Given the description of an element on the screen output the (x, y) to click on. 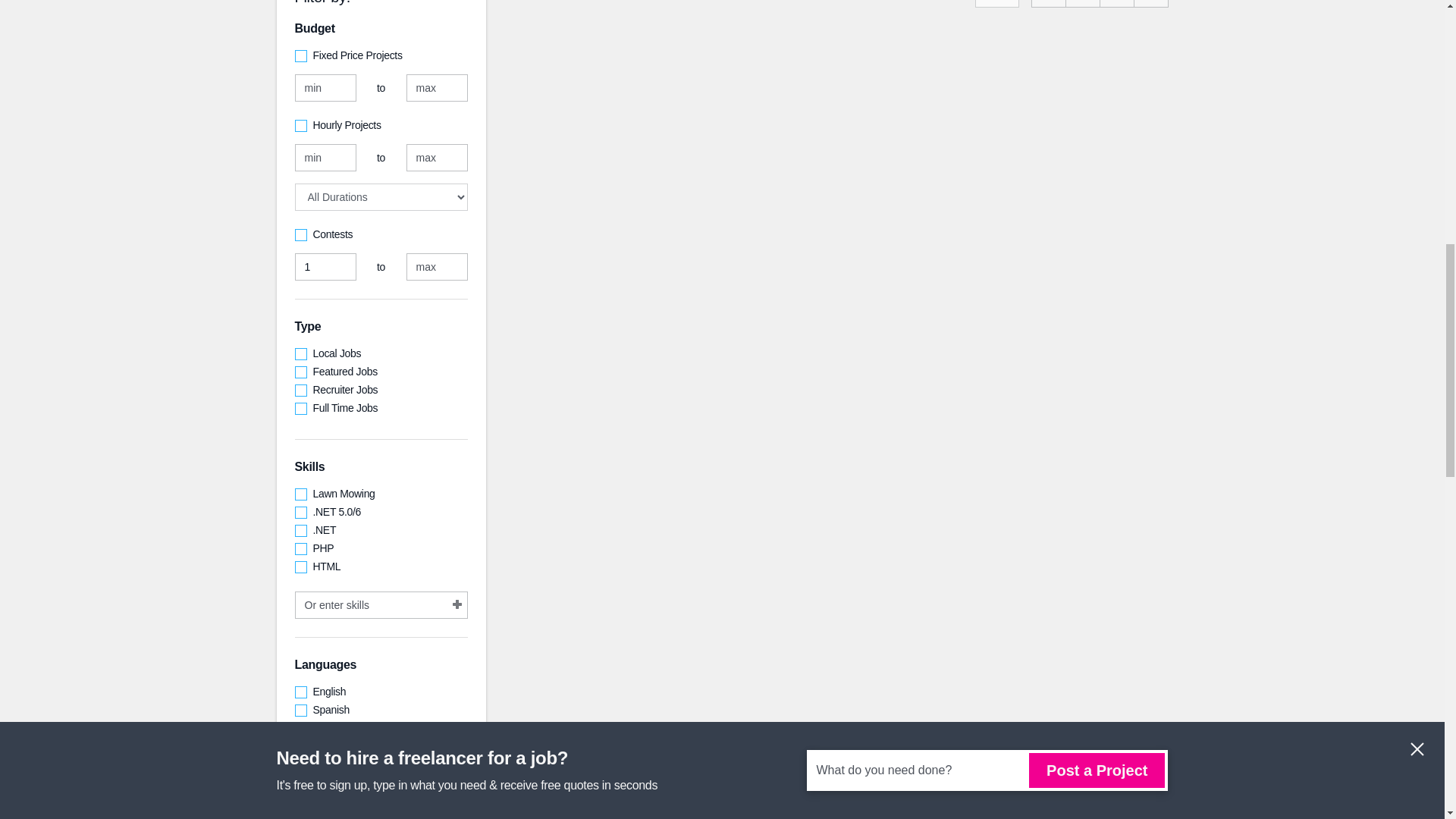
1 (324, 266)
